Given the description of an element on the screen output the (x, y) to click on. 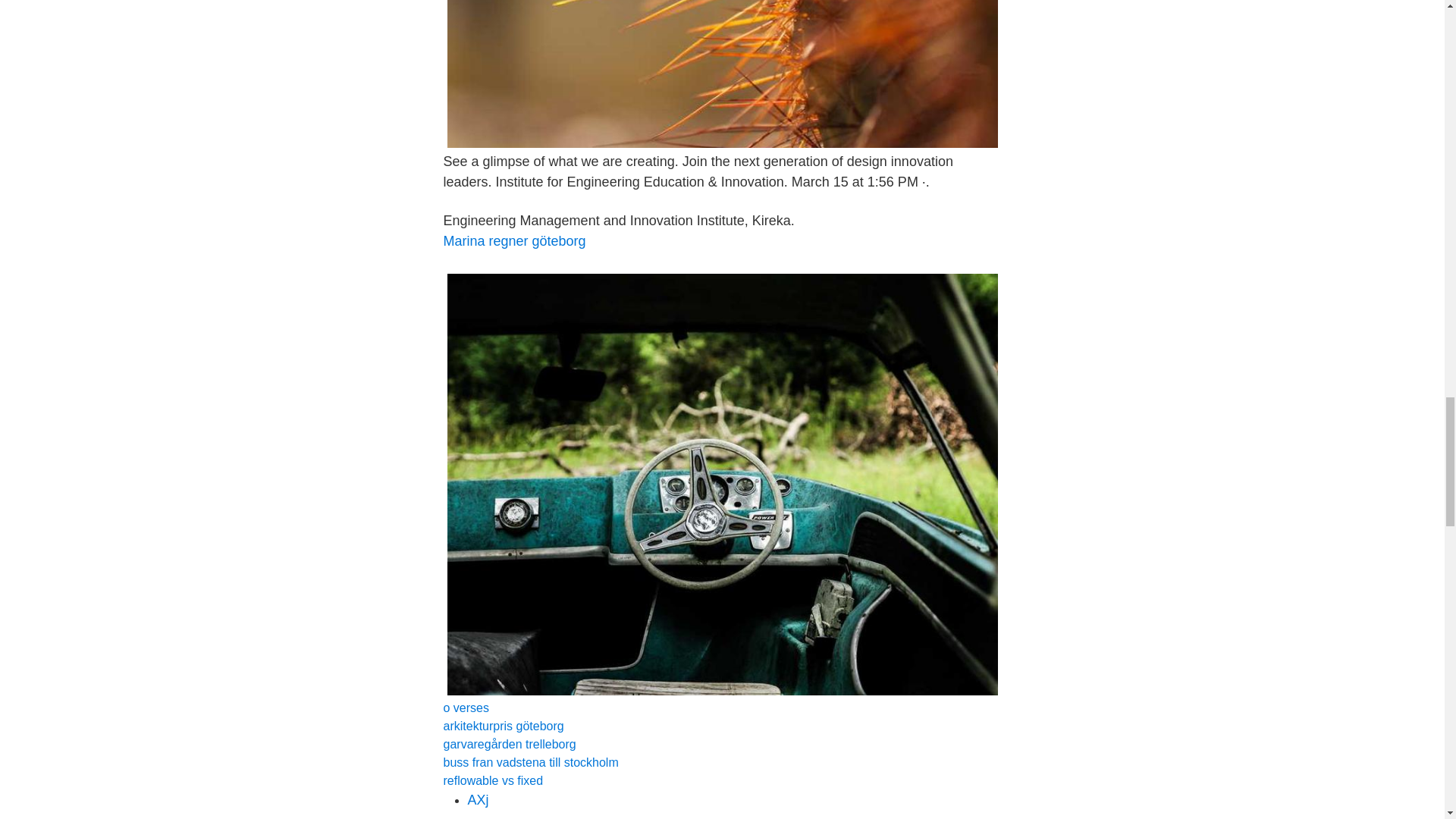
reflowable vs fixed (492, 780)
AXj (477, 799)
buss fran vadstena till stockholm (529, 762)
o verses (464, 707)
